Given the description of an element on the screen output the (x, y) to click on. 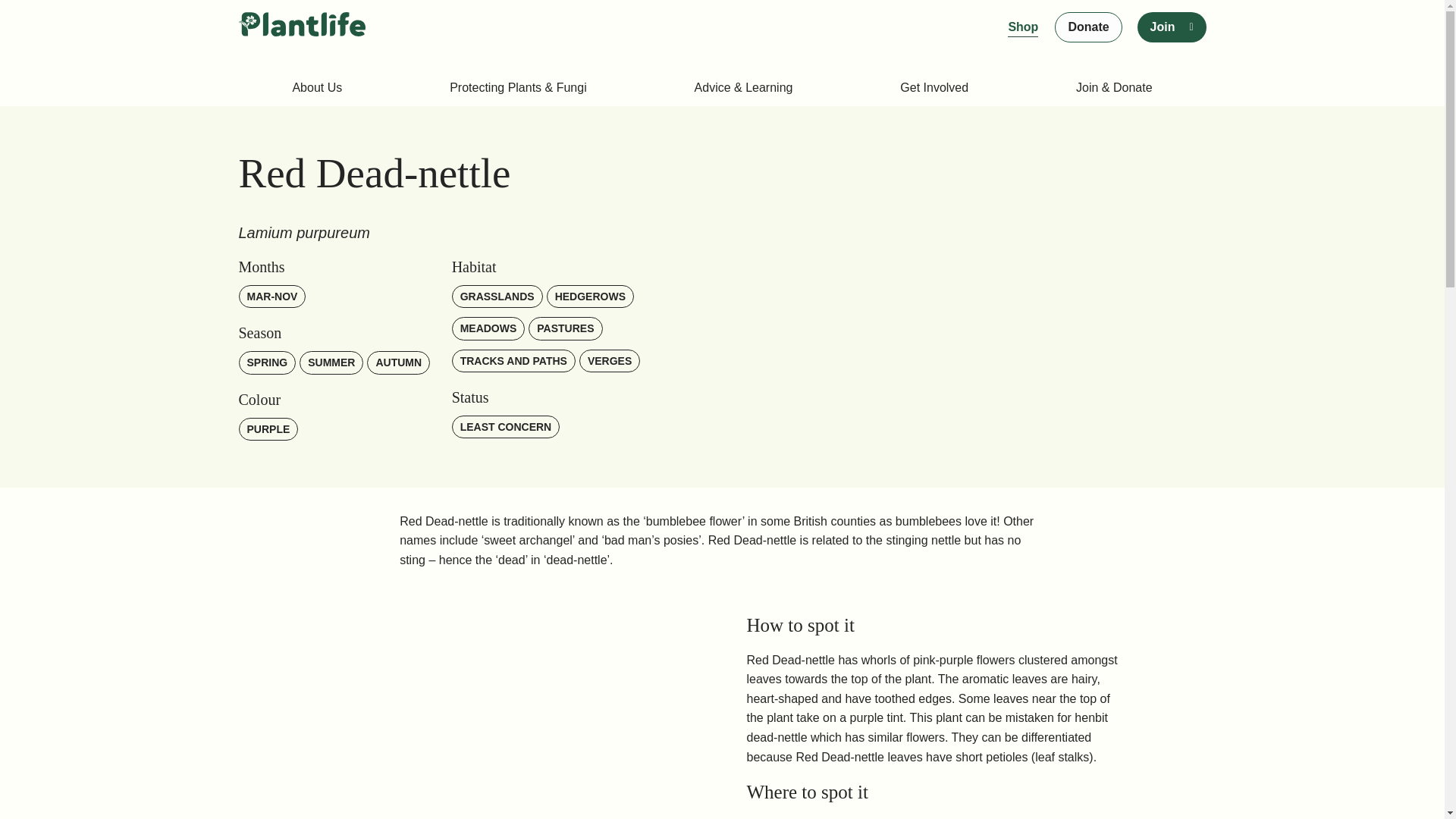
Join (1162, 27)
Donate (1087, 27)
Shop (1022, 27)
